Given the description of an element on the screen output the (x, y) to click on. 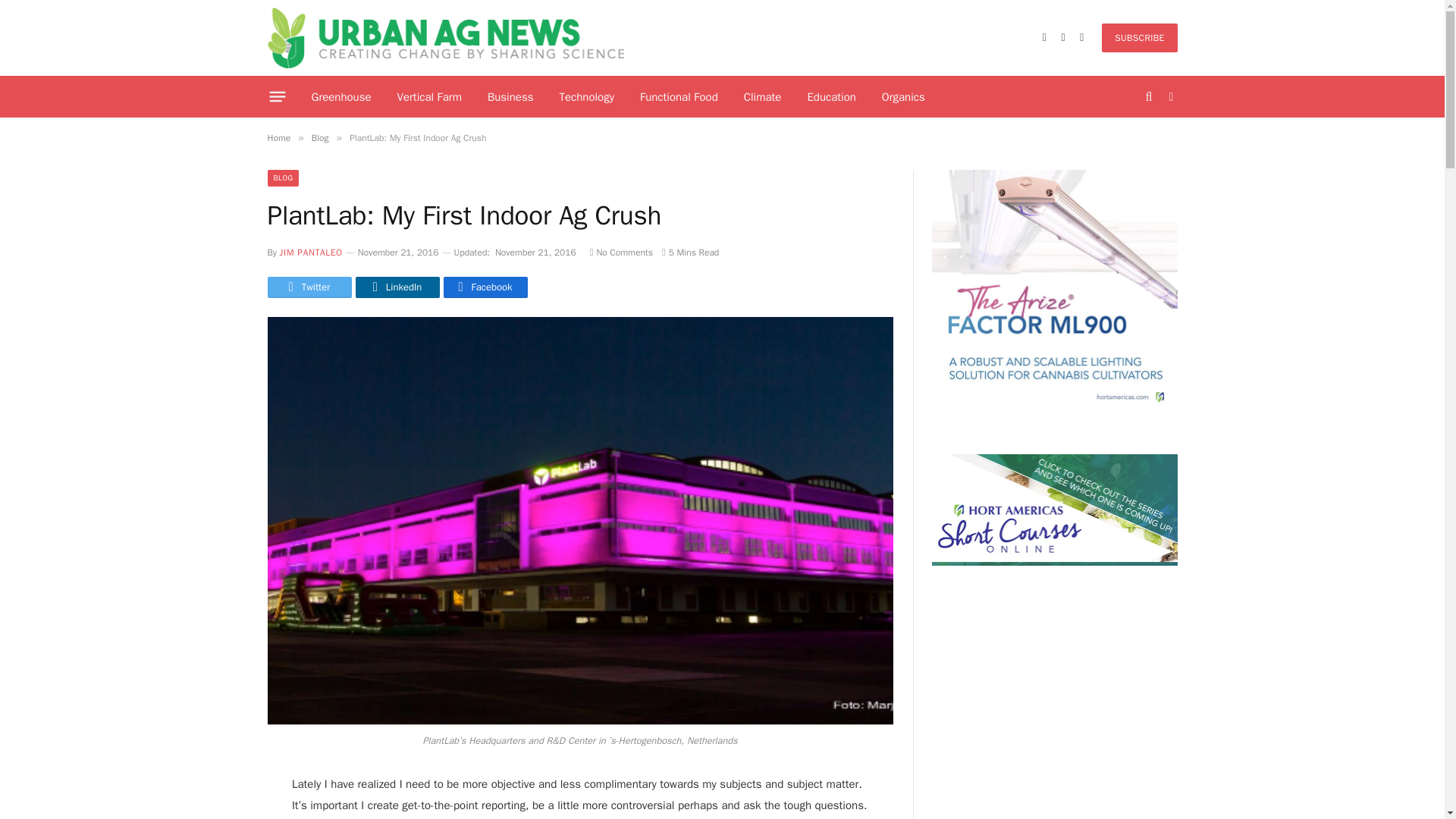
Twitter (308, 287)
LinkedIn (397, 287)
Technology (586, 96)
No Comments (620, 252)
Switch to Dark Design - easier on eyes. (1168, 96)
Facebook (484, 287)
Business (510, 96)
Education (830, 96)
SUBSCRIBE (1139, 37)
Greenhouse (341, 96)
Share on LinkedIn (397, 287)
Home (277, 137)
Blog (320, 137)
Urban Ag News (445, 38)
